Given the description of an element on the screen output the (x, y) to click on. 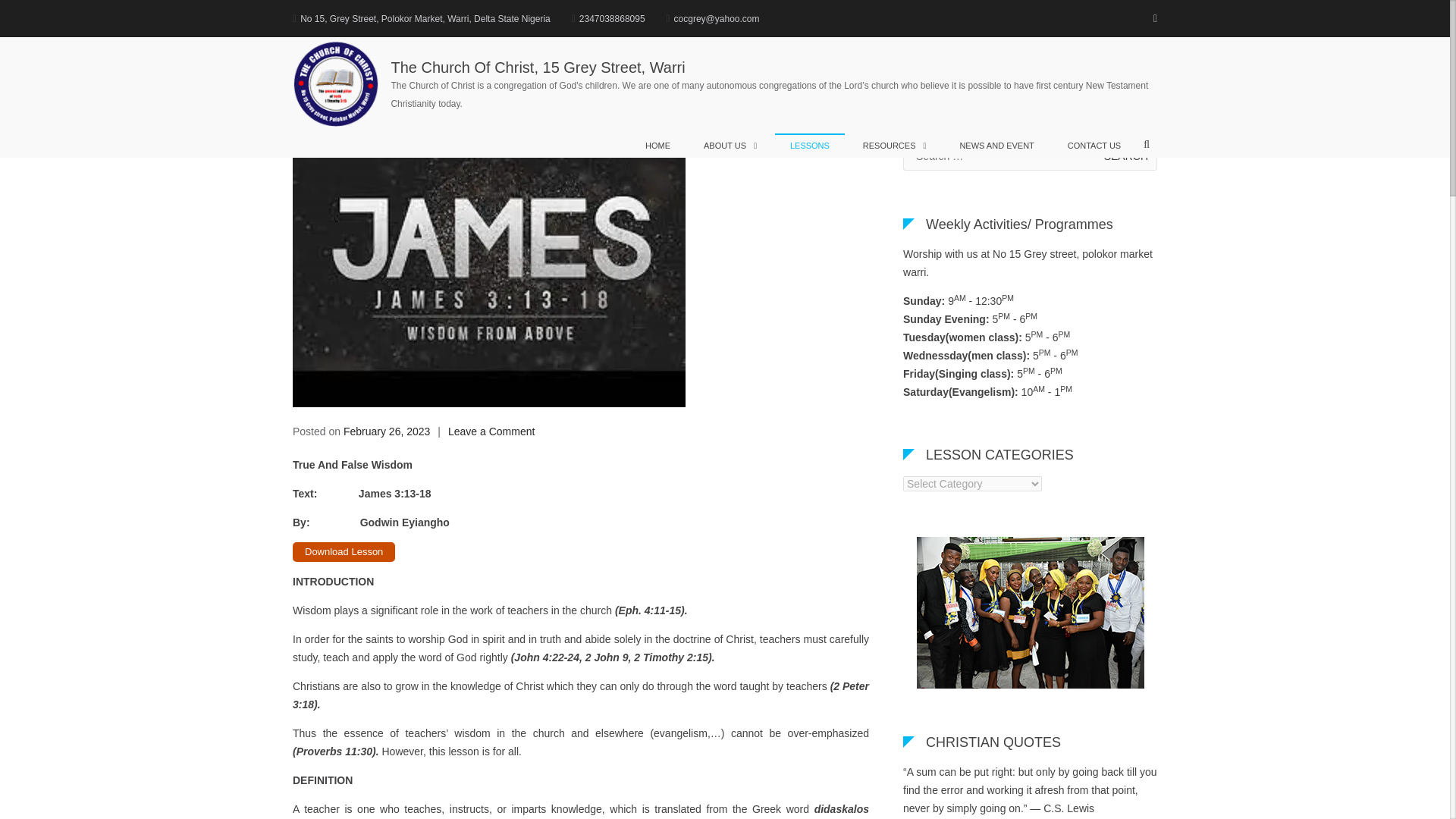
Search (1125, 155)
Posts (968, 27)
Search (1125, 155)
HOME (657, 145)
Sunday Teaching (1016, 27)
LESSONS (809, 145)
Posts (968, 27)
CONTACT US (1094, 145)
February 26, 2023 (386, 431)
Home (938, 27)
